Given the description of an element on the screen output the (x, y) to click on. 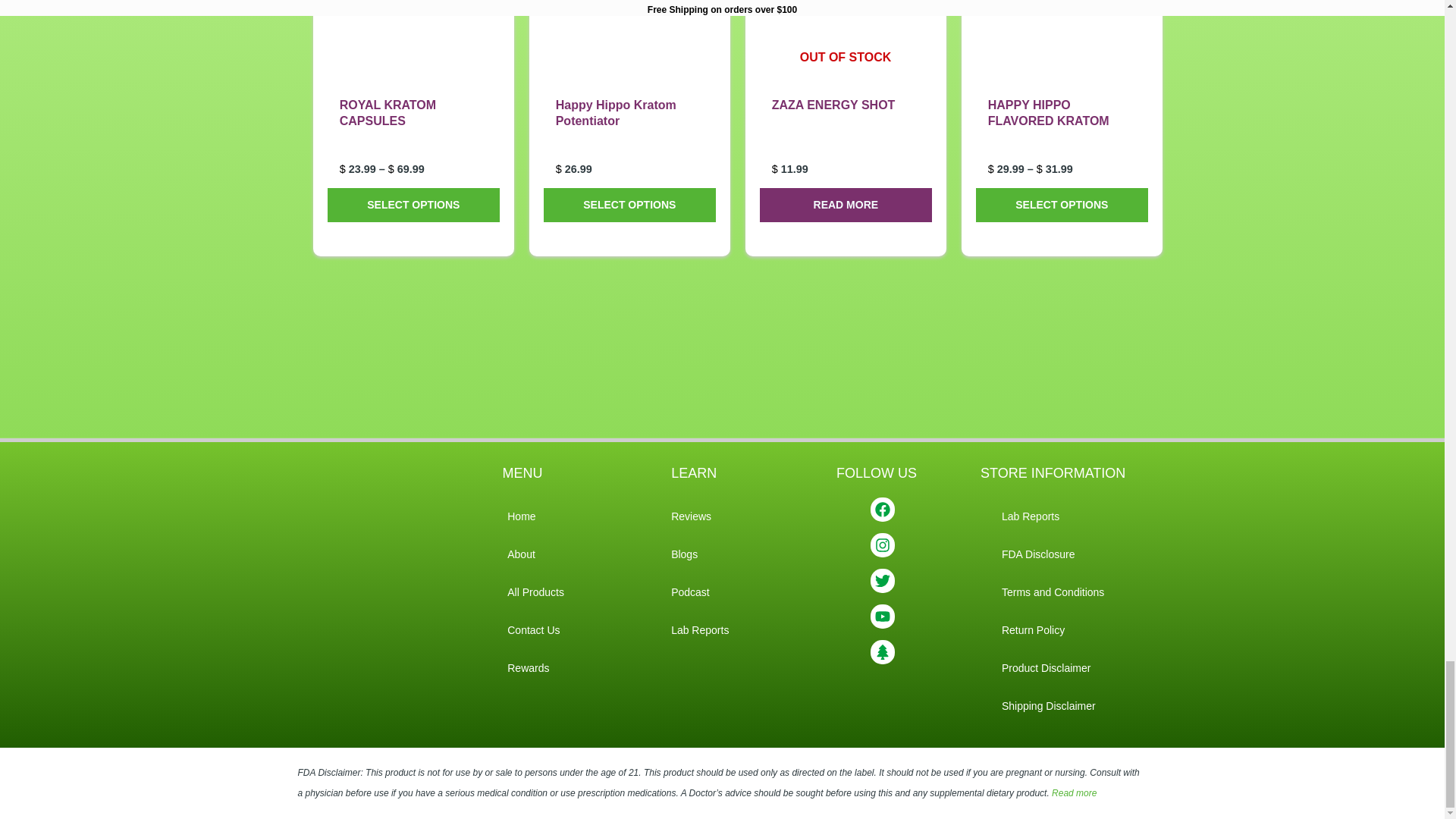
ROYAL KRATOM CAPSULES (413, 126)
SELECT OPTIONS (413, 204)
READ MORE (845, 204)
HAPPY HIPPO FLAVORED KRATOM (1061, 126)
SELECT OPTIONS (629, 204)
OUT OF STOCK (844, 44)
Happy Hippo Kratom Potentiator (629, 126)
ZAZA ENERGY SHOT (845, 126)
